Given the description of an element on the screen output the (x, y) to click on. 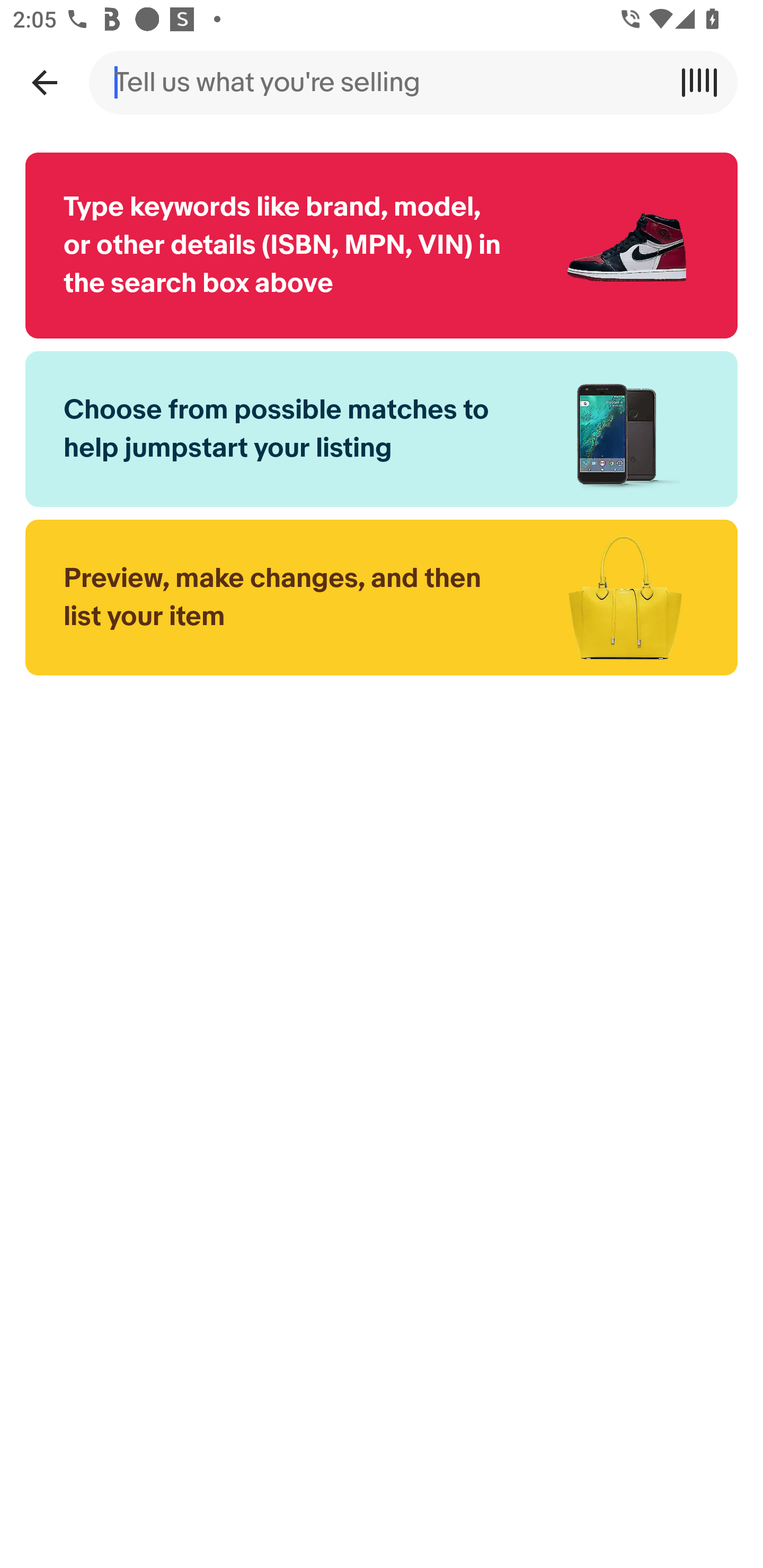
Navigate up (44, 82)
Scan a barcode (705, 82)
Tell us what you're selling (381, 82)
